Given the description of an element on the screen output the (x, y) to click on. 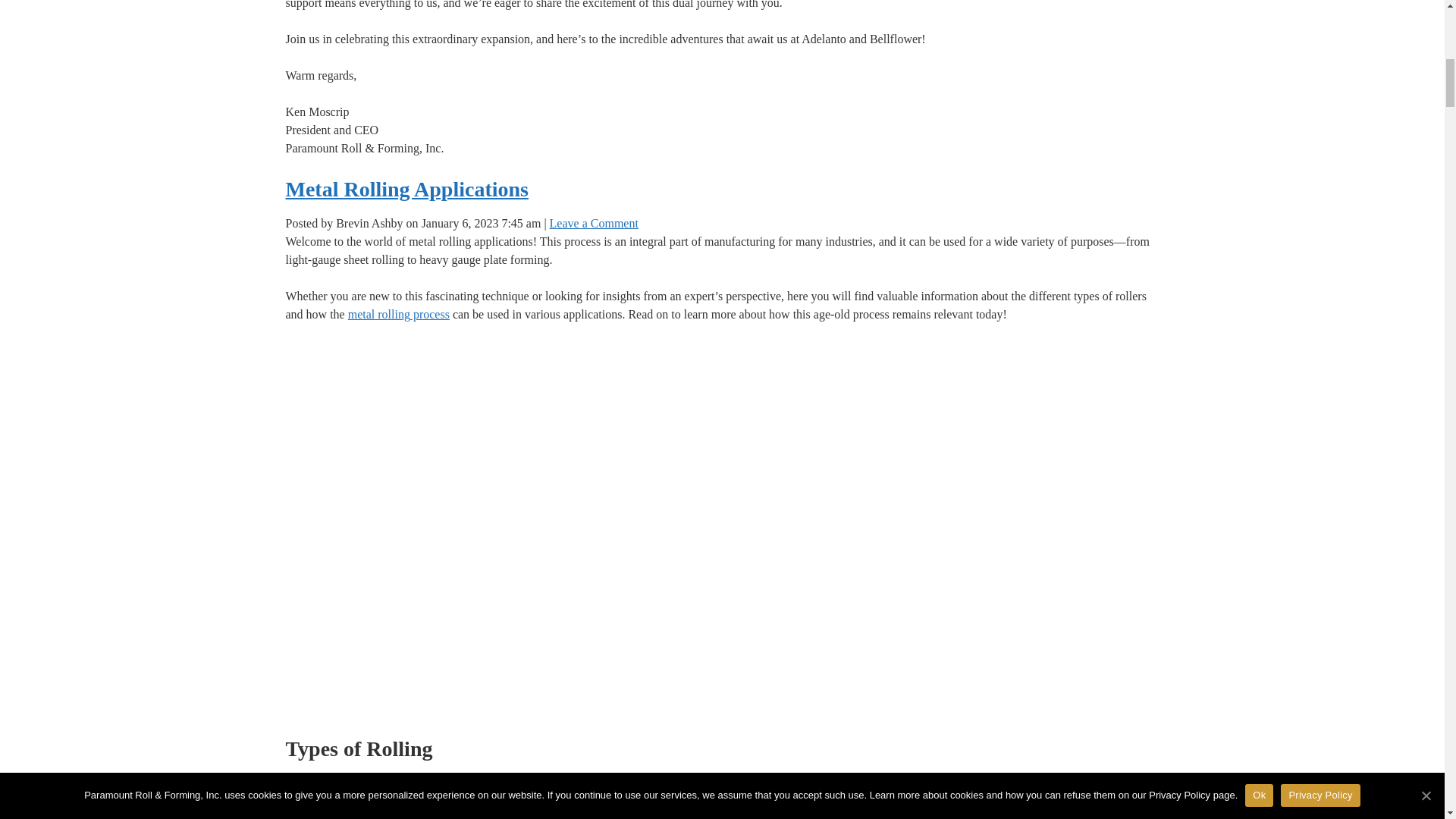
Leave a Comment (594, 223)
metal rolling (378, 314)
Metal Rolling Applications (406, 188)
process (429, 314)
Permalink to Metal Rolling Applications (406, 188)
